Given the description of an element on the screen output the (x, y) to click on. 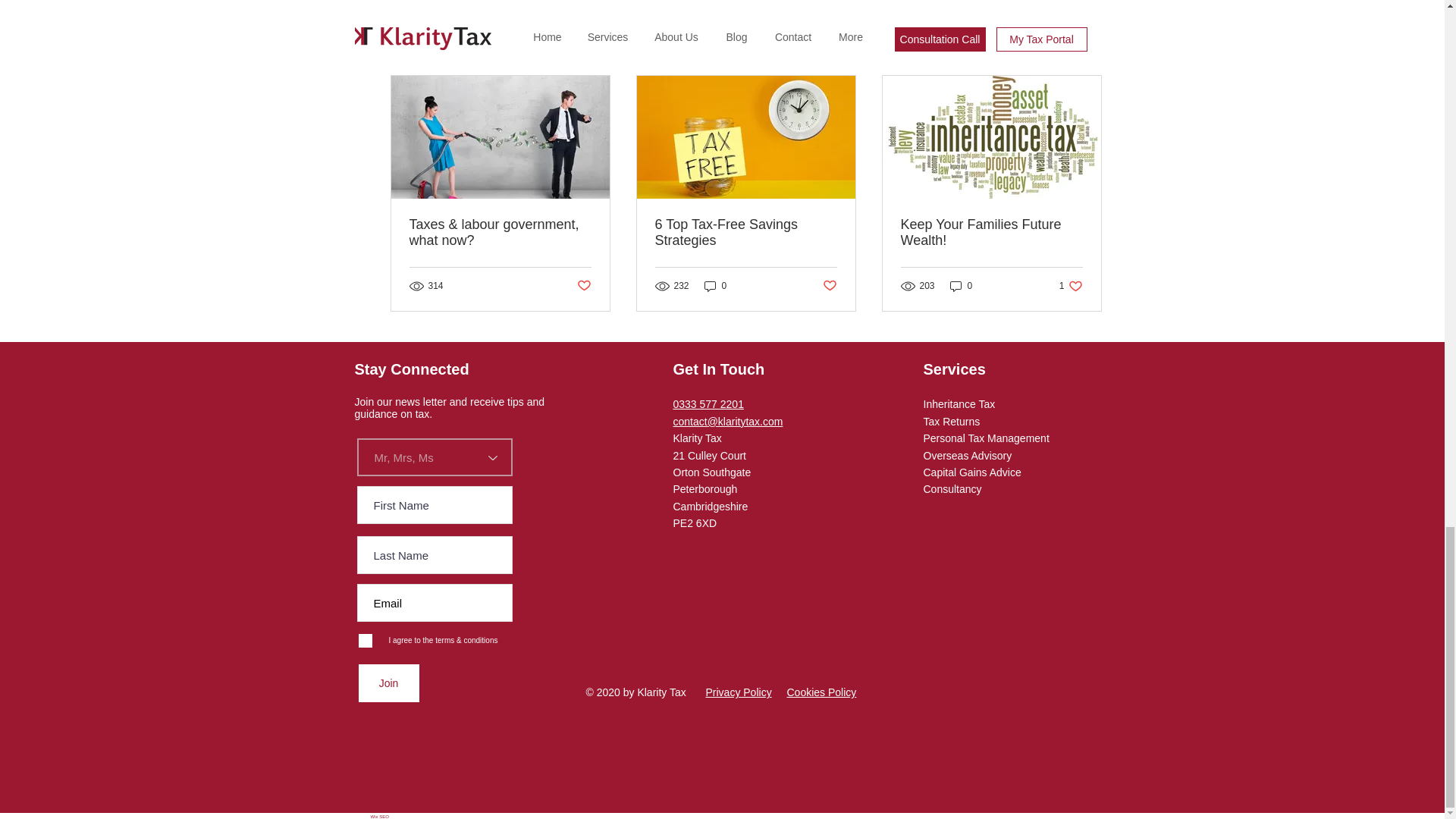
Post not marked as liked (828, 286)
Keep Your Families Future Wealth! (992, 232)
0 (961, 286)
0 (716, 286)
See All (1071, 286)
Join (1086, 48)
6 Top Tax-Free Savings Strategies (388, 682)
Post not marked as liked (746, 232)
